Given the description of an element on the screen output the (x, y) to click on. 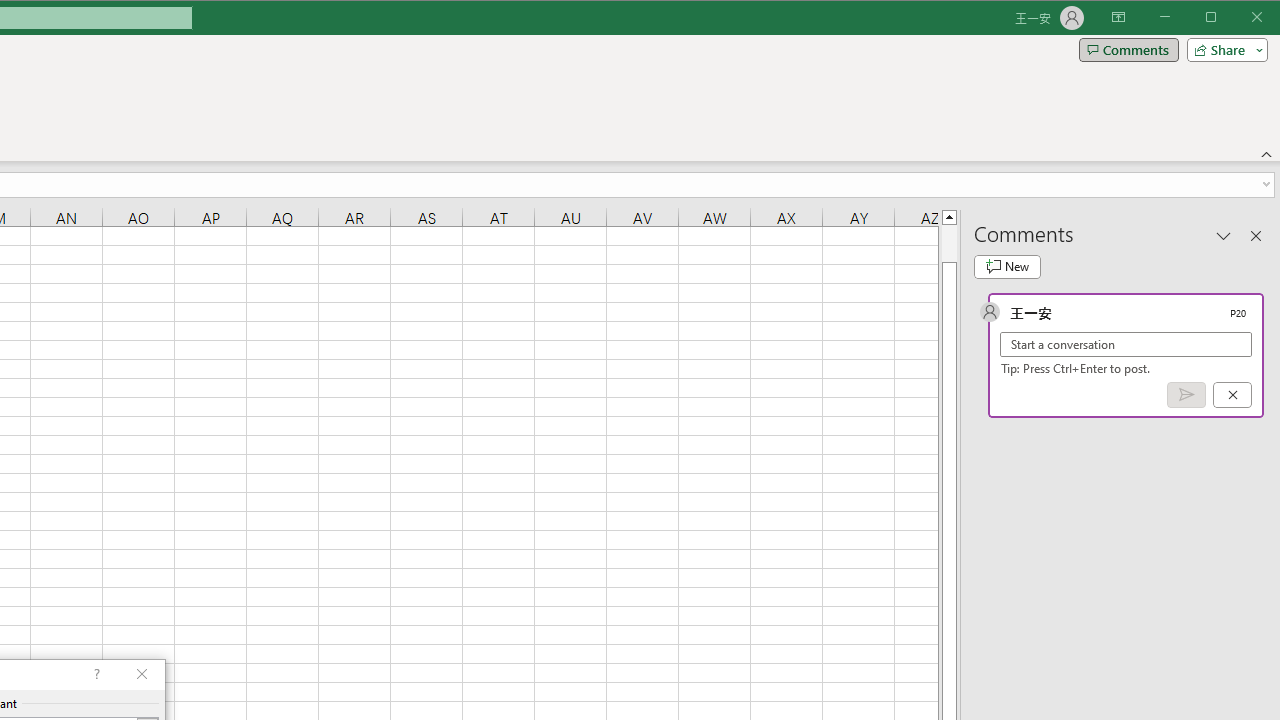
Cancel (1232, 395)
Close (1261, 18)
Minimize (1217, 18)
Task Pane Options (1224, 235)
Maximize (1239, 18)
Comments (1128, 49)
Collapse the Ribbon (1267, 154)
Close pane (1256, 235)
Post comment (Ctrl + Enter) (1186, 395)
Line up (948, 216)
Ribbon Display Options (1118, 17)
Start a conversation (1126, 344)
New comment (1007, 266)
Share (1223, 49)
